Given the description of an element on the screen output the (x, y) to click on. 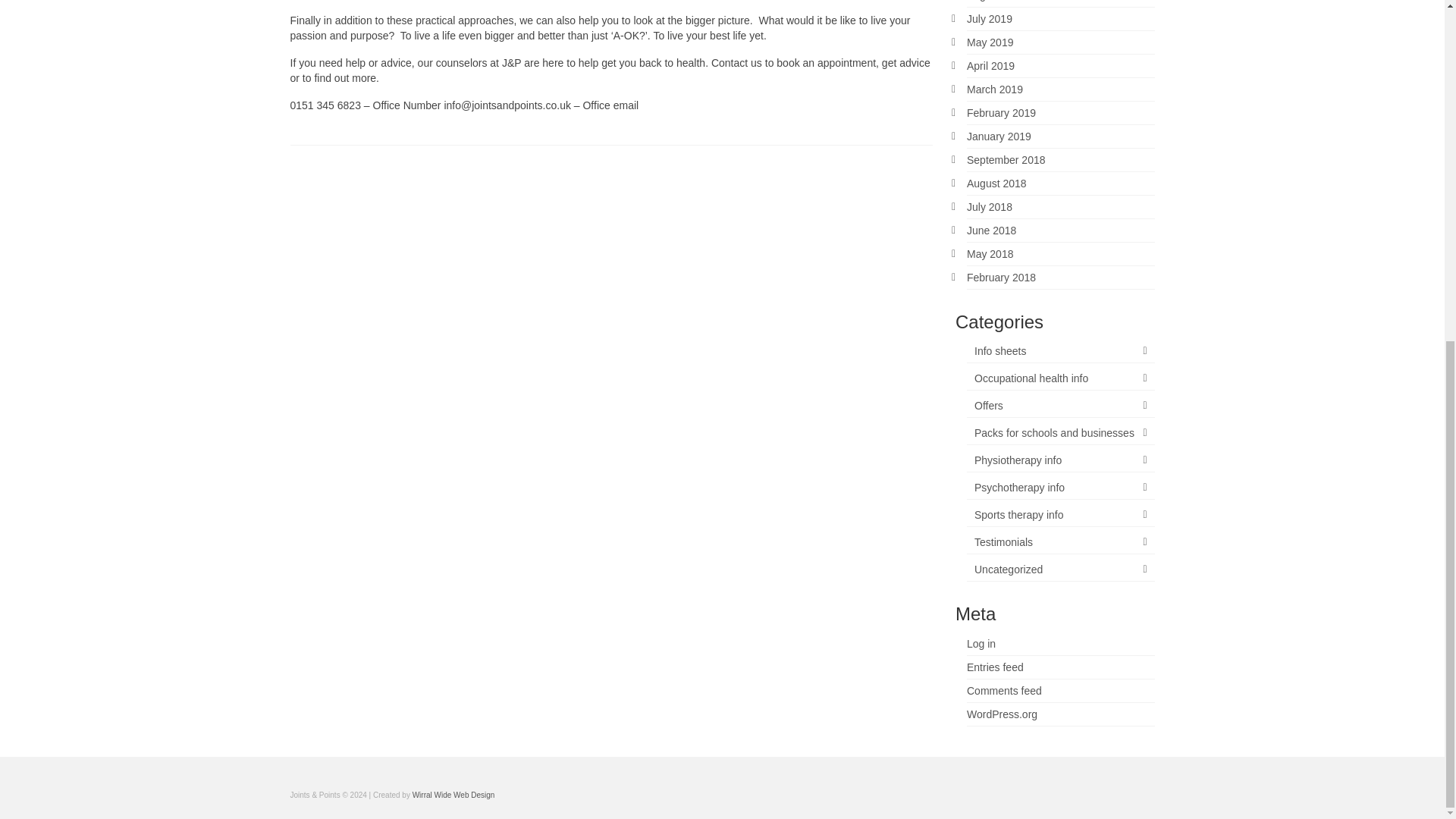
February 2019 (1000, 112)
May 2018 (989, 254)
July 2018 (988, 206)
June 2018 (991, 230)
July 2019 (988, 19)
August 2019 (996, 0)
February 2018 (1000, 277)
January 2019 (998, 136)
September 2018 (1005, 159)
August 2018 (996, 183)
May 2019 (989, 42)
April 2019 (990, 65)
March 2019 (994, 89)
